Given the description of an element on the screen output the (x, y) to click on. 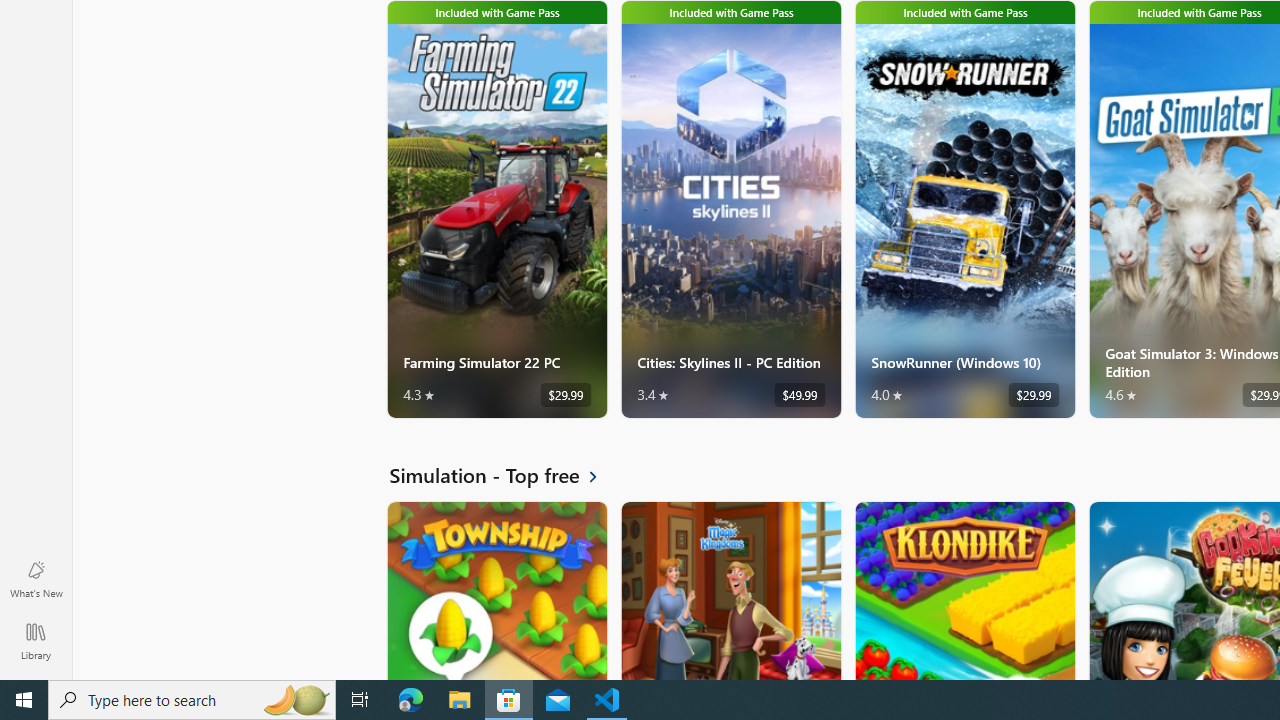
Township. Average rating of 4.5 out of five stars. Free   (497, 590)
What's New (35, 578)
Library (35, 640)
See all  Simulation - Top free (505, 475)
